Given the description of an element on the screen output the (x, y) to click on. 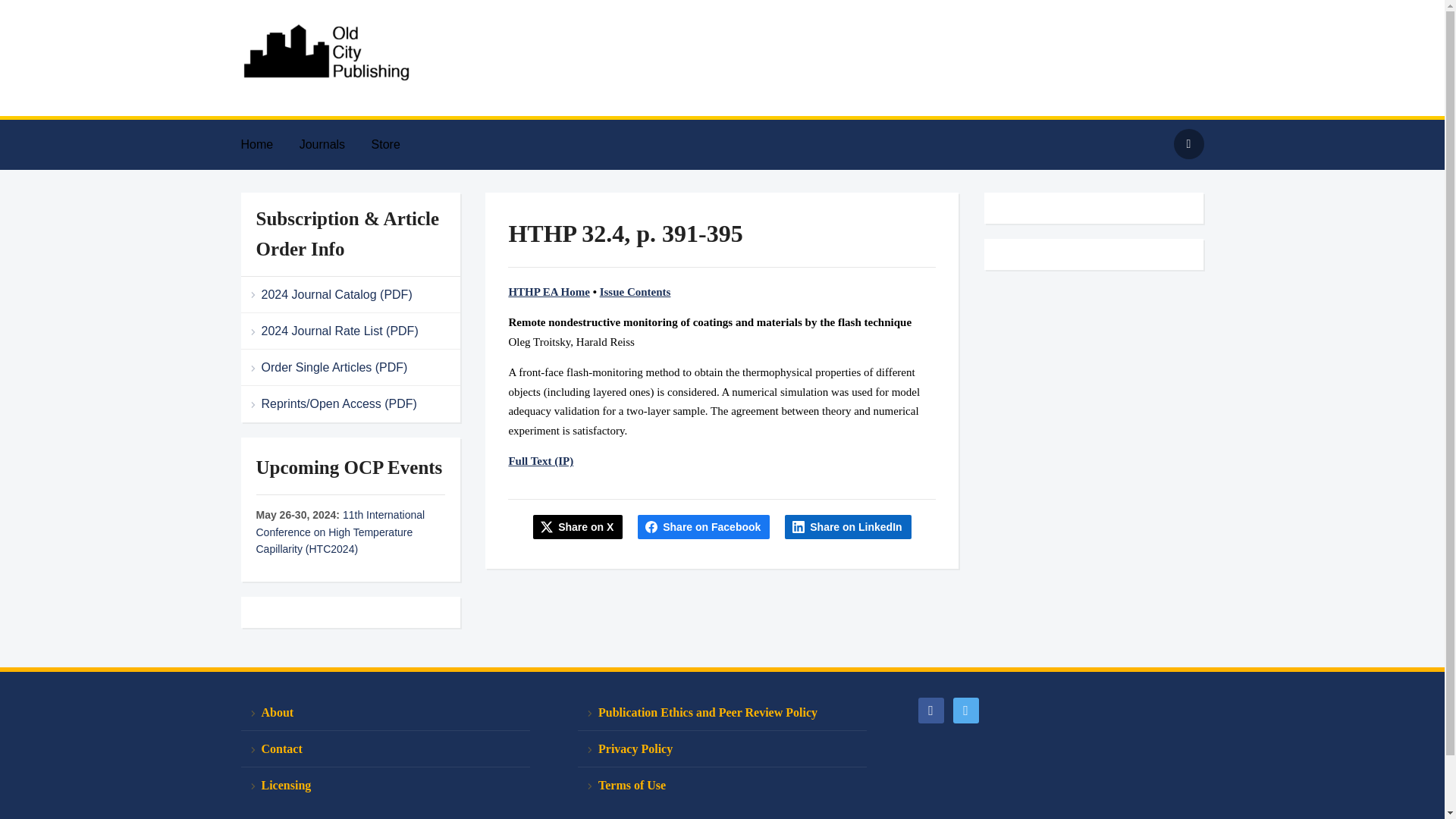
Follow Me (965, 707)
Share on Facebook (703, 526)
Terms of Use (722, 785)
Licensing (385, 785)
Privacy Policy (722, 749)
HTHP EA Home (548, 291)
Friend me on Facebook (930, 707)
Share this on X (577, 526)
Store (397, 144)
Journals (333, 144)
Contact (385, 749)
Home (269, 144)
facebook (930, 707)
twitter (965, 707)
Search (1188, 143)
